Given the description of an element on the screen output the (x, y) to click on. 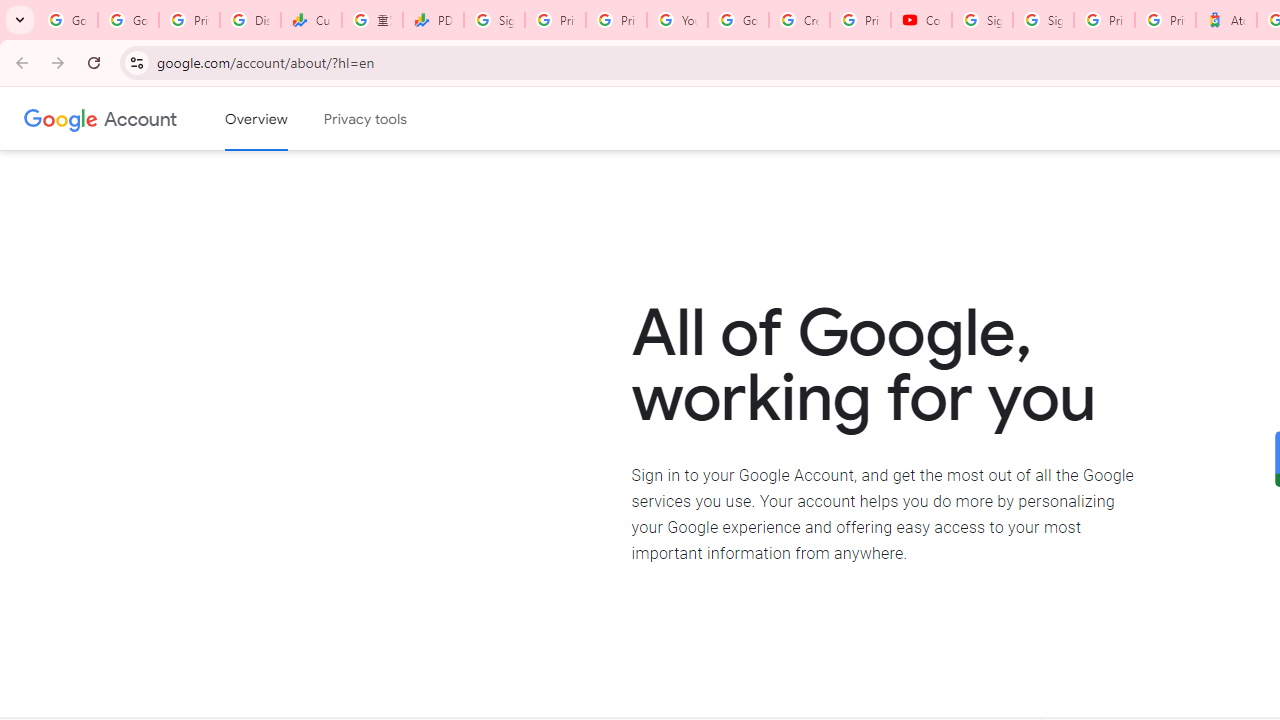
Atour Hotel - Google hotels (1225, 20)
Google logo (61, 118)
Create your Google Account (799, 20)
